Given the description of an element on the screen output the (x, y) to click on. 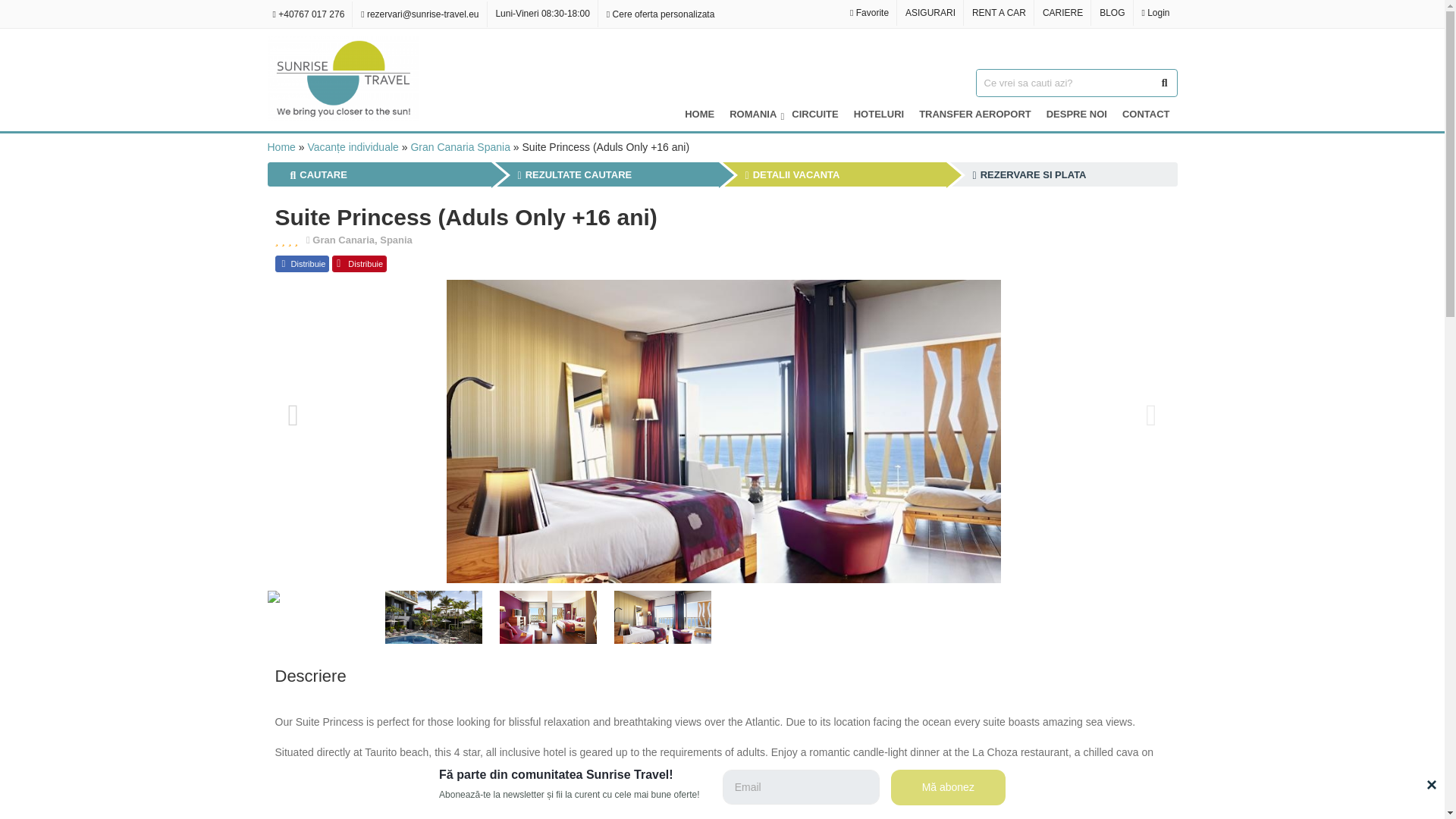
Distribuie (302, 263)
RENT A CAR (998, 12)
DESPRE NOI (1077, 113)
DETALII VACANTA (792, 174)
CARIERE (1062, 12)
CAUTARE (317, 174)
Click aici (684, 797)
REZERVARE SI PLATA (1029, 174)
CIRCUITE (814, 113)
BLOG (1112, 12)
Cere oferta personalizata (660, 14)
Home (280, 146)
TRANSFER AEROPORT (975, 113)
ASIGURARI (930, 12)
Gran Canaria Spania (460, 146)
